Given the description of an element on the screen output the (x, y) to click on. 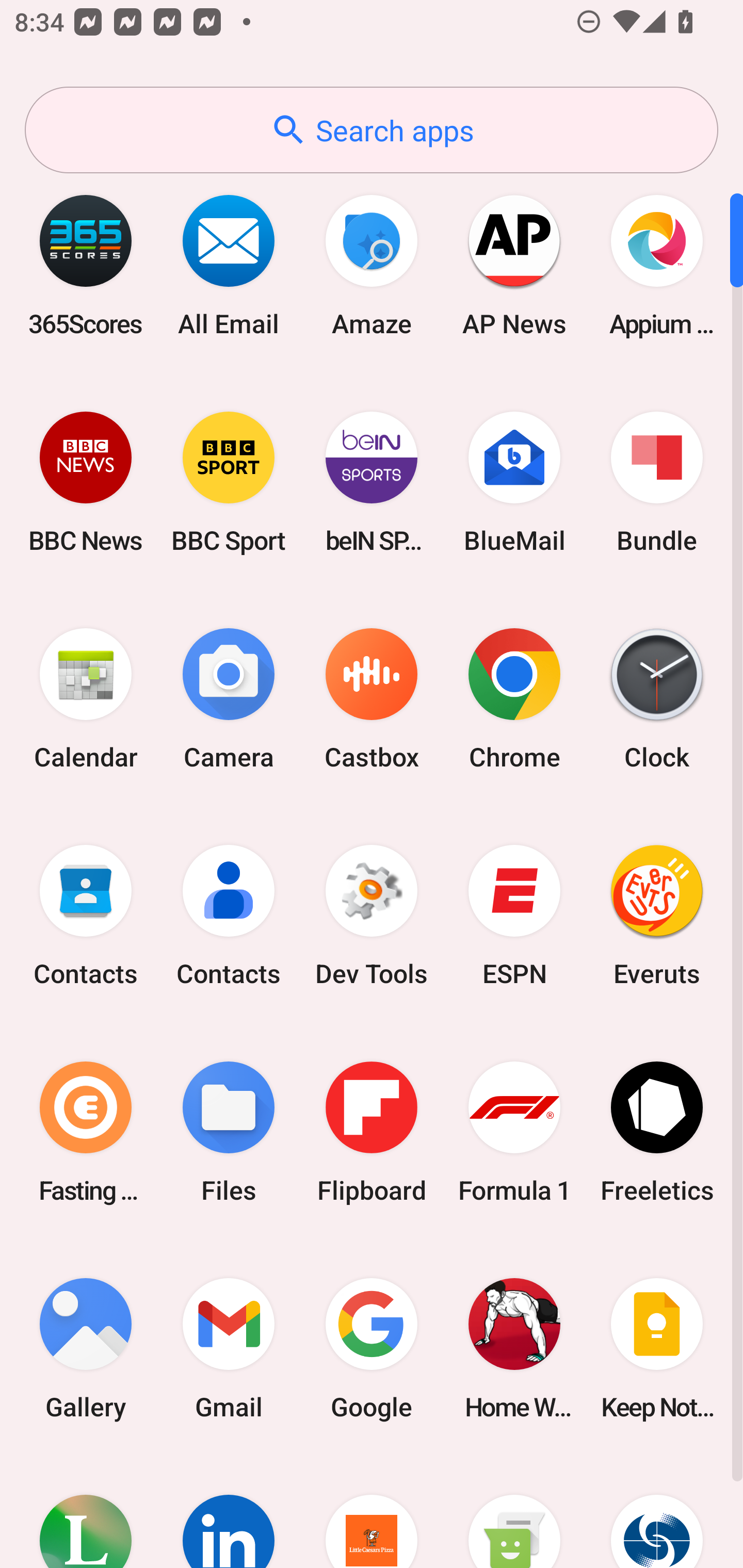
  Search apps (371, 130)
365Scores (85, 264)
All Email (228, 264)
Amaze (371, 264)
AP News (514, 264)
Appium Settings (656, 264)
BBC News (85, 482)
BBC Sport (228, 482)
beIN SPORTS (371, 482)
BlueMail (514, 482)
Bundle (656, 482)
Calendar (85, 699)
Camera (228, 699)
Castbox (371, 699)
Chrome (514, 699)
Clock (656, 699)
Contacts (85, 915)
Contacts (228, 915)
Dev Tools (371, 915)
ESPN (514, 915)
Everuts (656, 915)
Fasting Coach (85, 1131)
Files (228, 1131)
Flipboard (371, 1131)
Formula 1 (514, 1131)
Freeletics (656, 1131)
Gallery (85, 1348)
Gmail (228, 1348)
Google (371, 1348)
Home Workout (514, 1348)
Keep Notes (656, 1348)
